Given the description of an element on the screen output the (x, y) to click on. 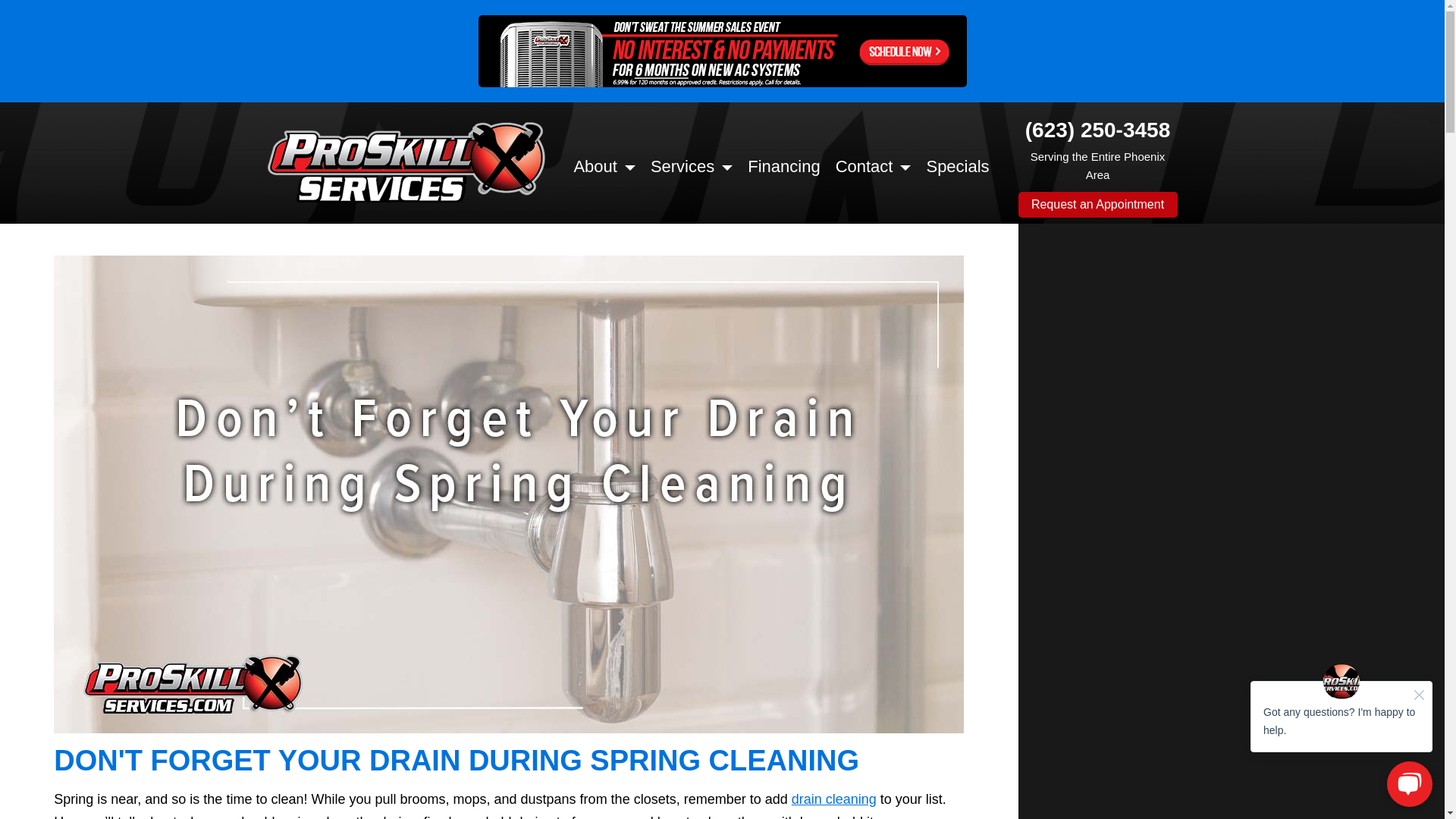
Serving the Entire Phoenix Area (1098, 164)
Request an Appointment (1096, 204)
drain cleaning (834, 798)
